Given the description of an element on the screen output the (x, y) to click on. 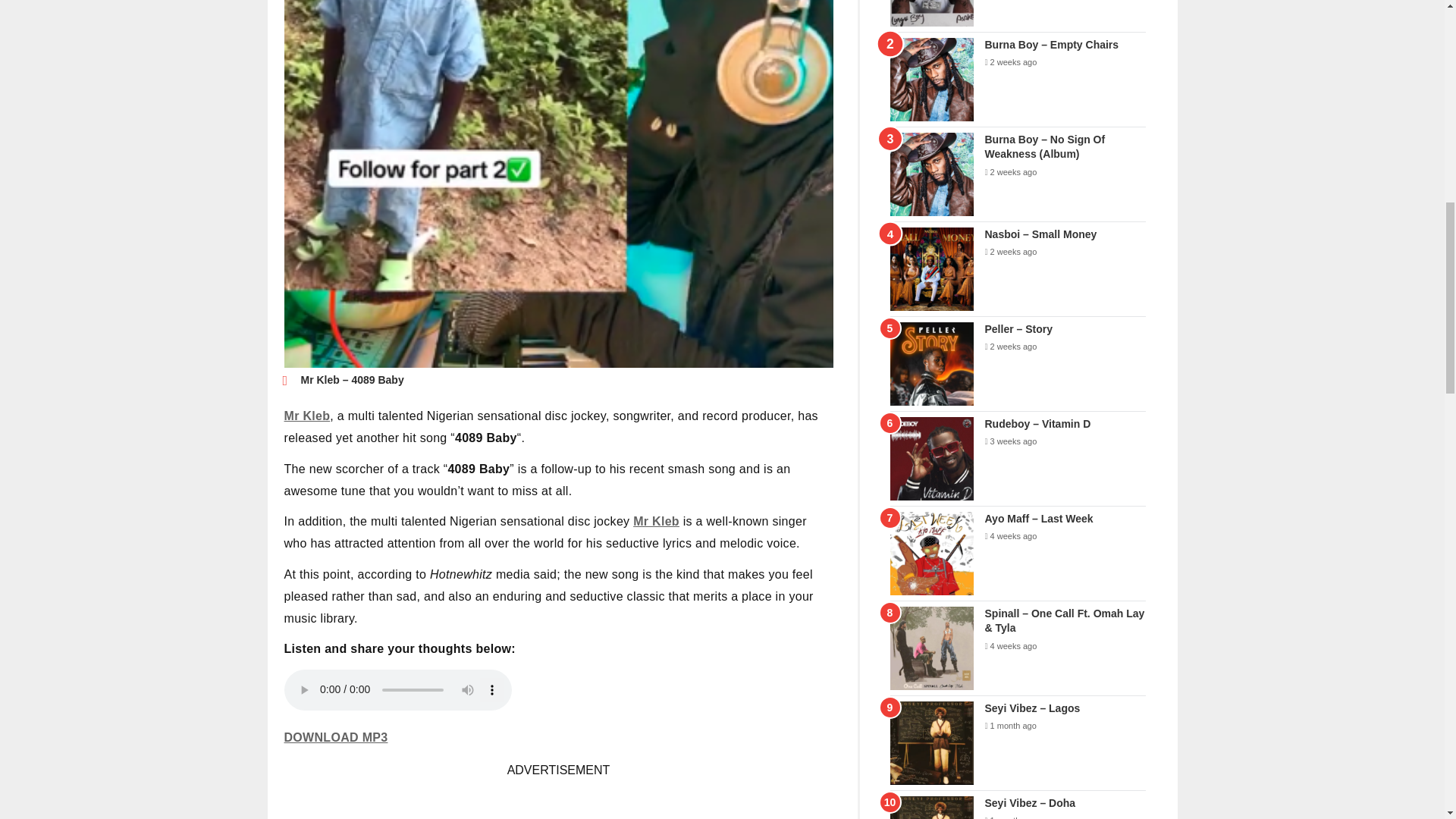
Mr Kleb (306, 415)
DOWNLOAD MP3 (335, 737)
Mr Kleb (656, 521)
